Given the description of an element on the screen output the (x, y) to click on. 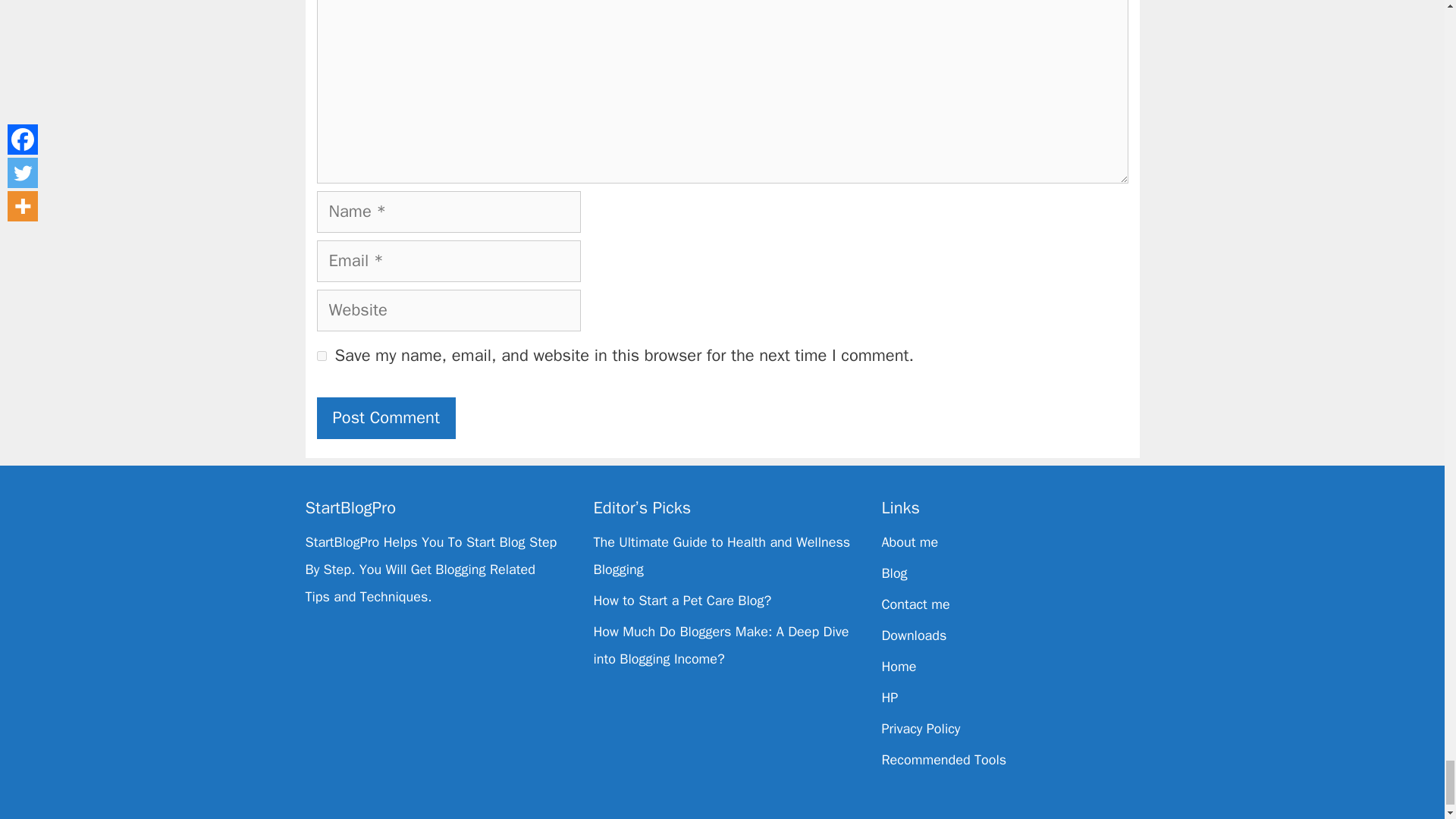
Post Comment (387, 417)
yes (321, 356)
